Given the description of an element on the screen output the (x, y) to click on. 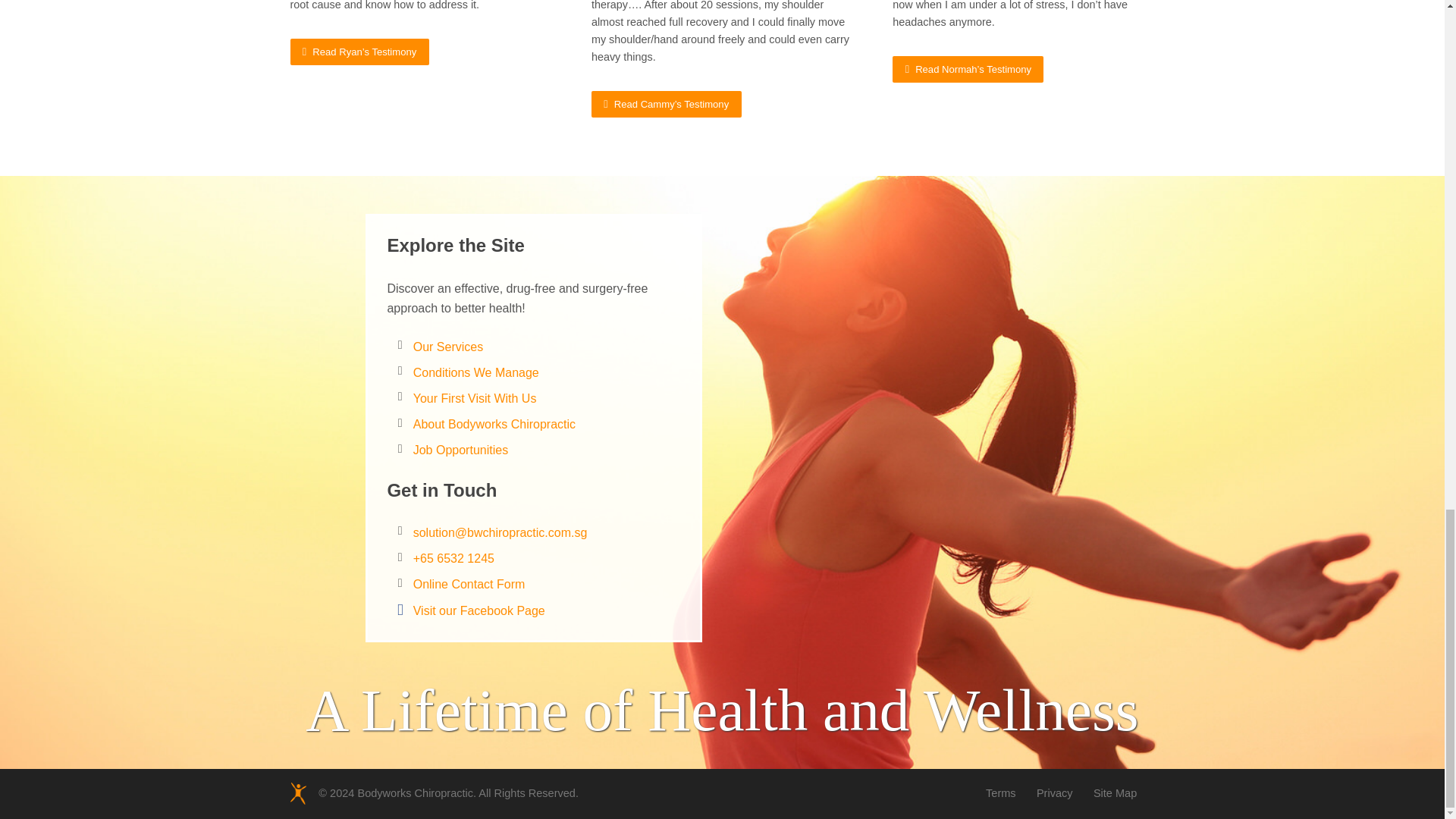
Your First Visit With Us (475, 398)
Privacy (1054, 793)
Online Contact Form (469, 584)
Site Map (1115, 793)
Conditions We Manage (475, 372)
Terms (1000, 793)
About Bodyworks Chiropractic (494, 423)
Visit our Facebook Page (478, 610)
Our Services (448, 346)
Job Opportunities (460, 449)
